Given the description of an element on the screen output the (x, y) to click on. 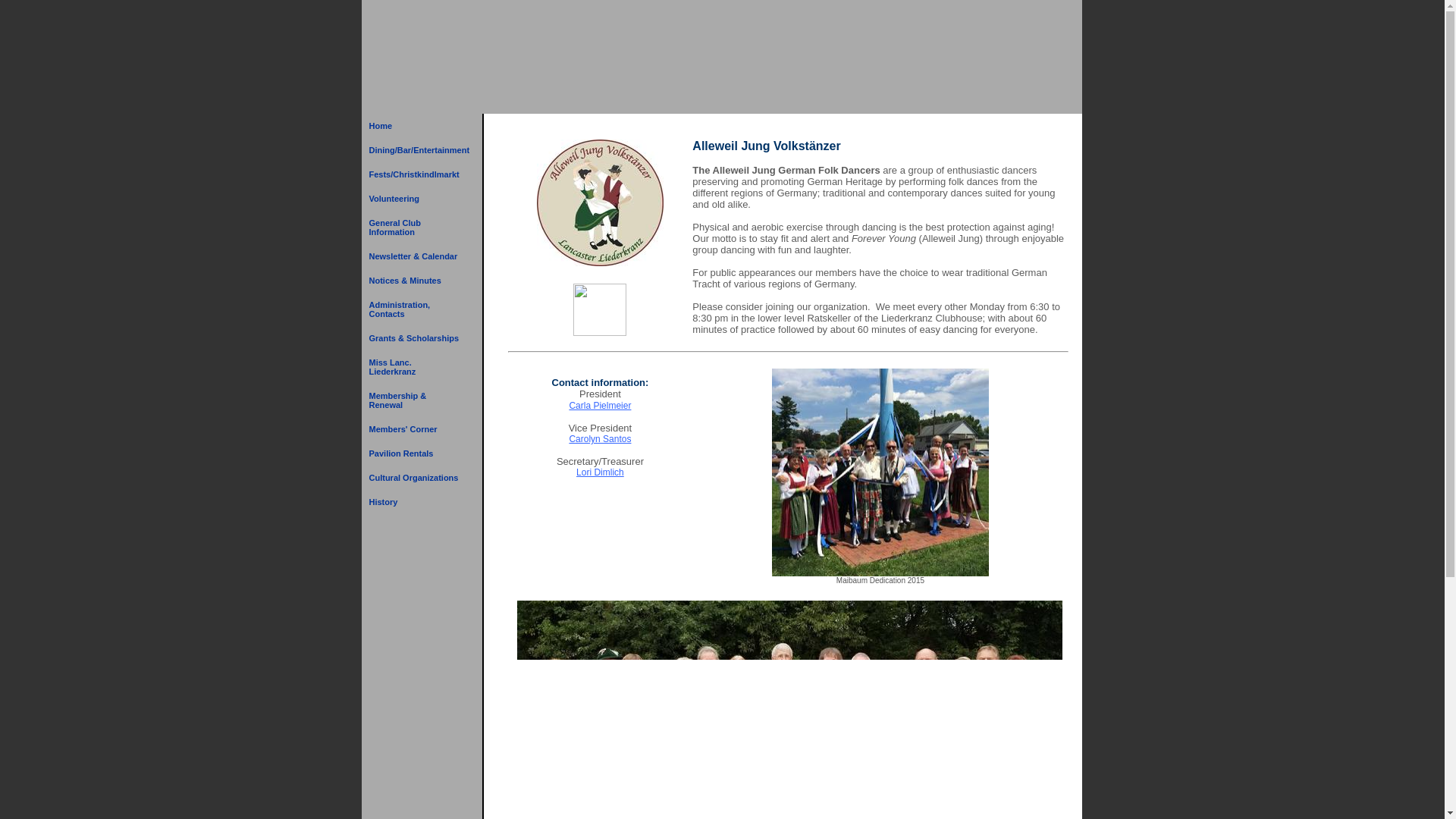
Members' Corner (414, 428)
Volunteering (414, 198)
Lori Dimlich (600, 471)
History (414, 501)
Cultural Organizations (414, 477)
Administration, Contacts (414, 308)
Miss Lanc. Liederkranz (414, 367)
Home (414, 125)
General Club Information (414, 227)
Carolyn Santos (599, 439)
